Given the description of an element on the screen output the (x, y) to click on. 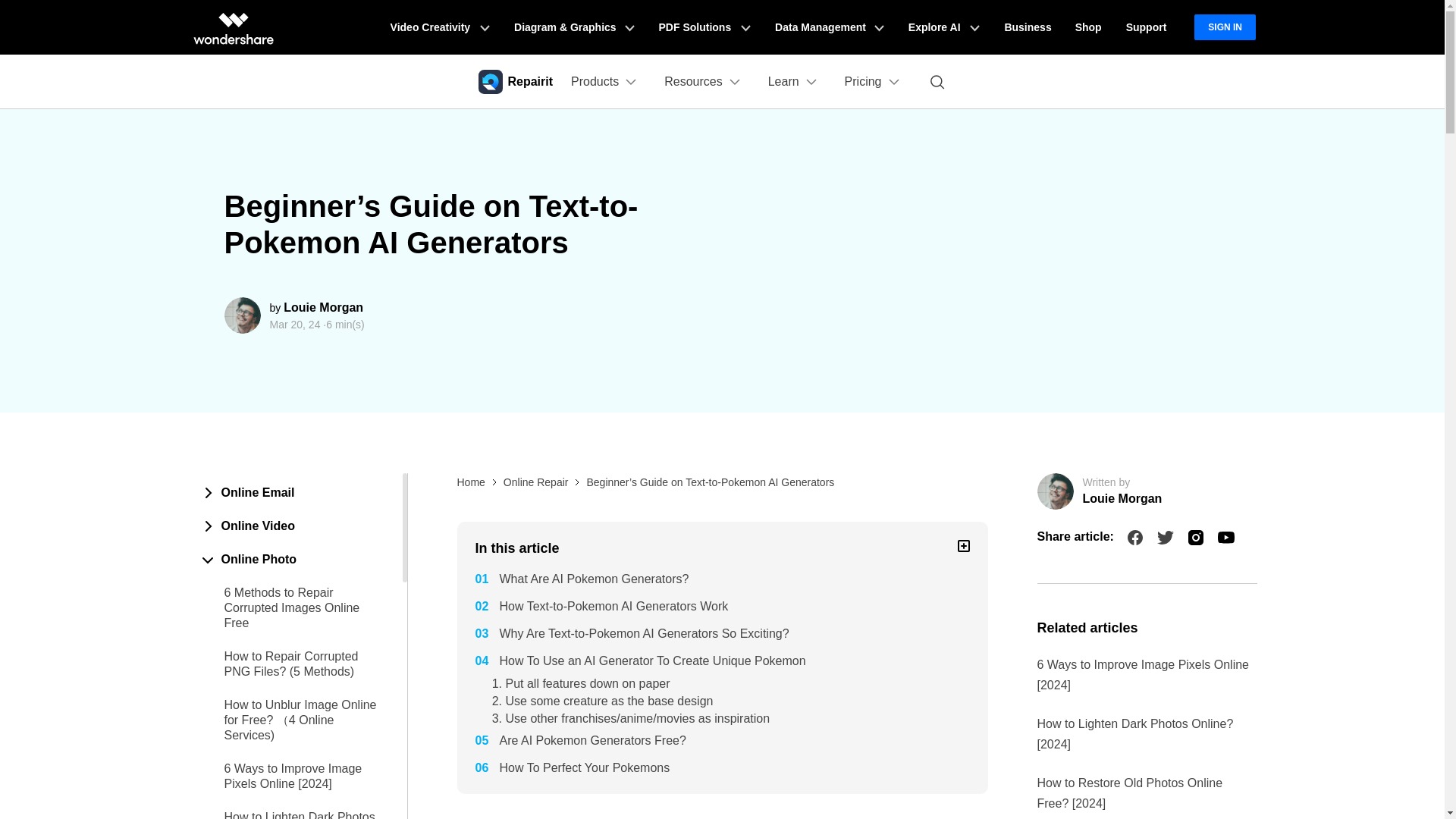
Business (1026, 27)
Explore AI (943, 27)
Video Creativity (439, 27)
PDF Solutions (704, 27)
Data Management (829, 27)
